Given the description of an element on the screen output the (x, y) to click on. 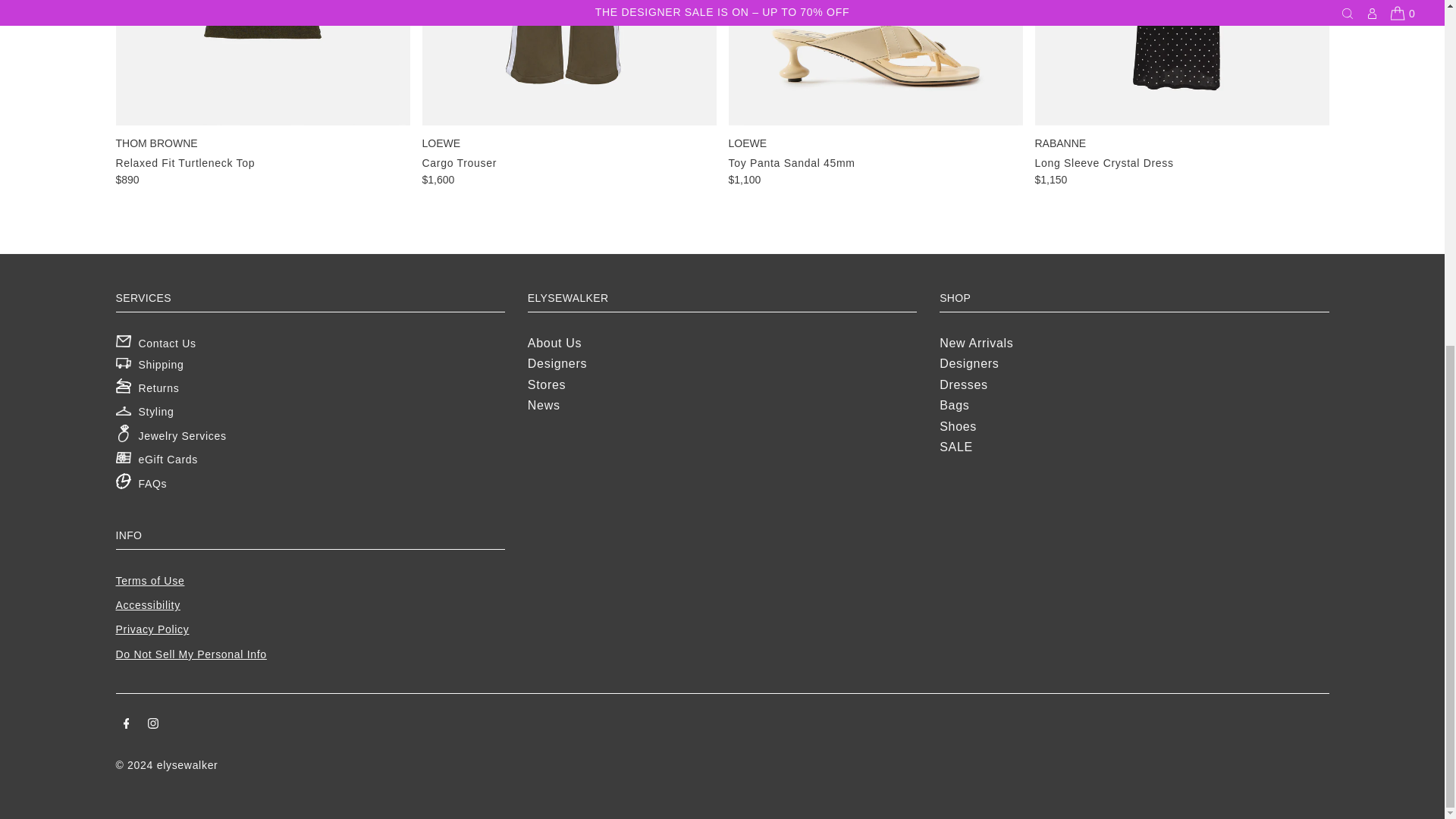
Go to Toy Panta Sandal 45mm product page (875, 94)
Go to Cargo Trouser product page (569, 94)
Terms Of Use (149, 580)
Go to Long Sleeve Crystal Dress product page (1180, 94)
Go to Relaxed Fit Turtleneck Top product page (262, 94)
Privacy Policy (152, 629)
DO NOT SELL MY INFORMATION NOTICE (190, 654)
Accessibility Statement (147, 604)
